Given the description of an element on the screen output the (x, y) to click on. 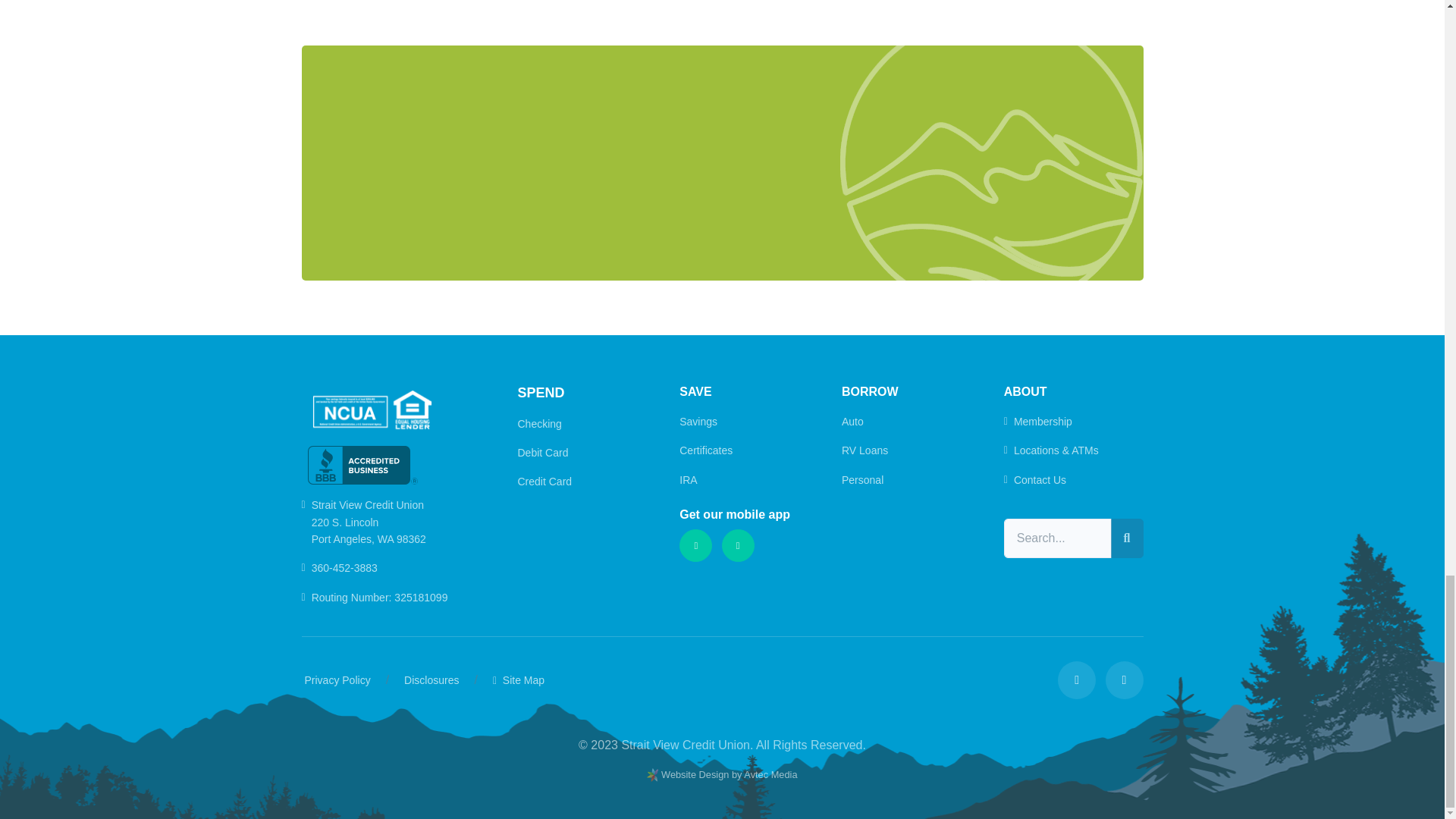
Credit Union Website Design (729, 774)
